Given the description of an element on the screen output the (x, y) to click on. 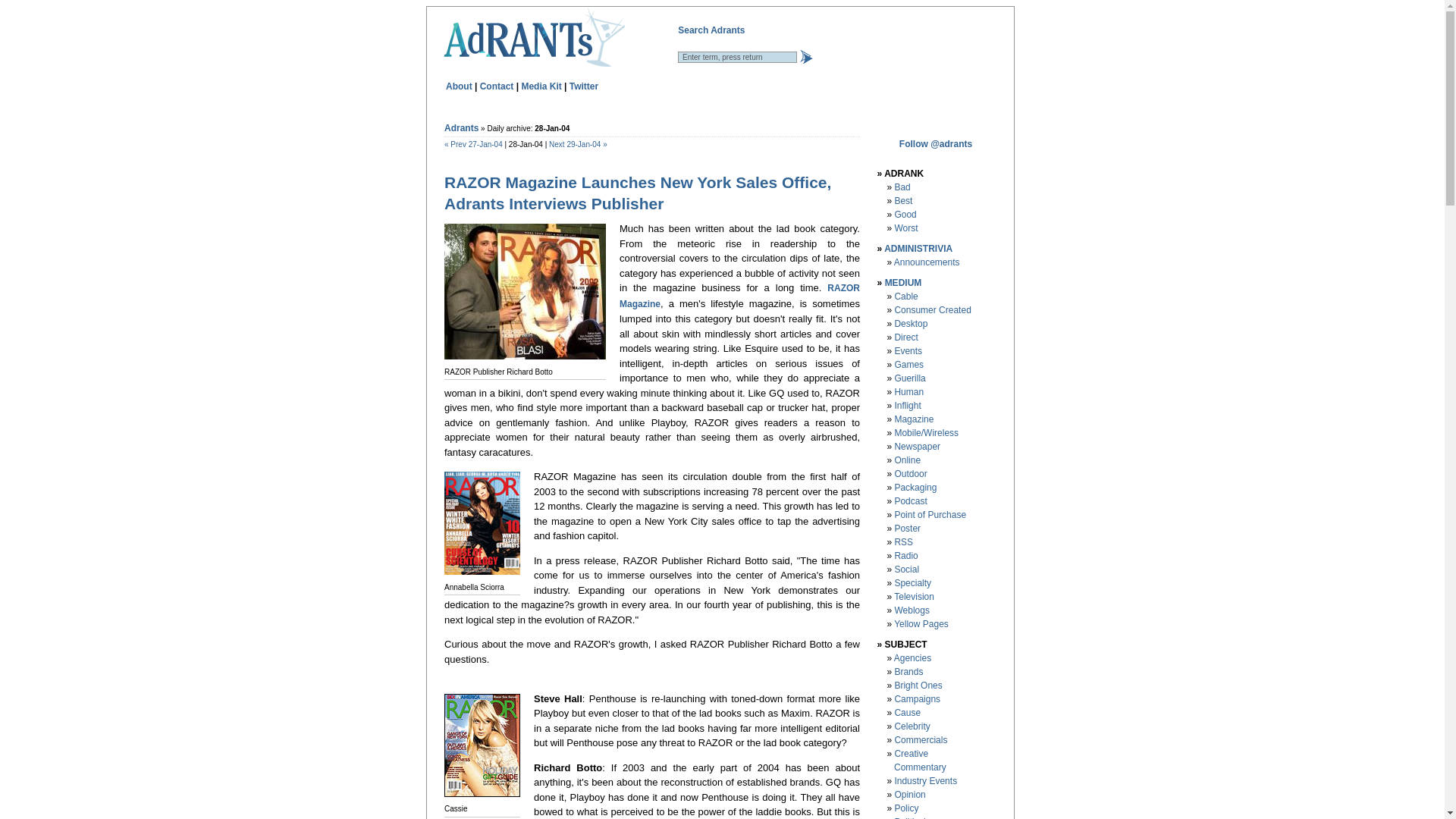
Search (805, 56)
About (458, 85)
Twitter (583, 85)
Follow Adrants on Twitter (583, 85)
Find Out What This Place is All About (458, 85)
Media Kit (540, 85)
Ask a Question, Make a Suggestion, Send a Press Release (496, 85)
RAZOR Magazine (740, 295)
Adrants (461, 127)
Contact (496, 85)
